Given the description of an element on the screen output the (x, y) to click on. 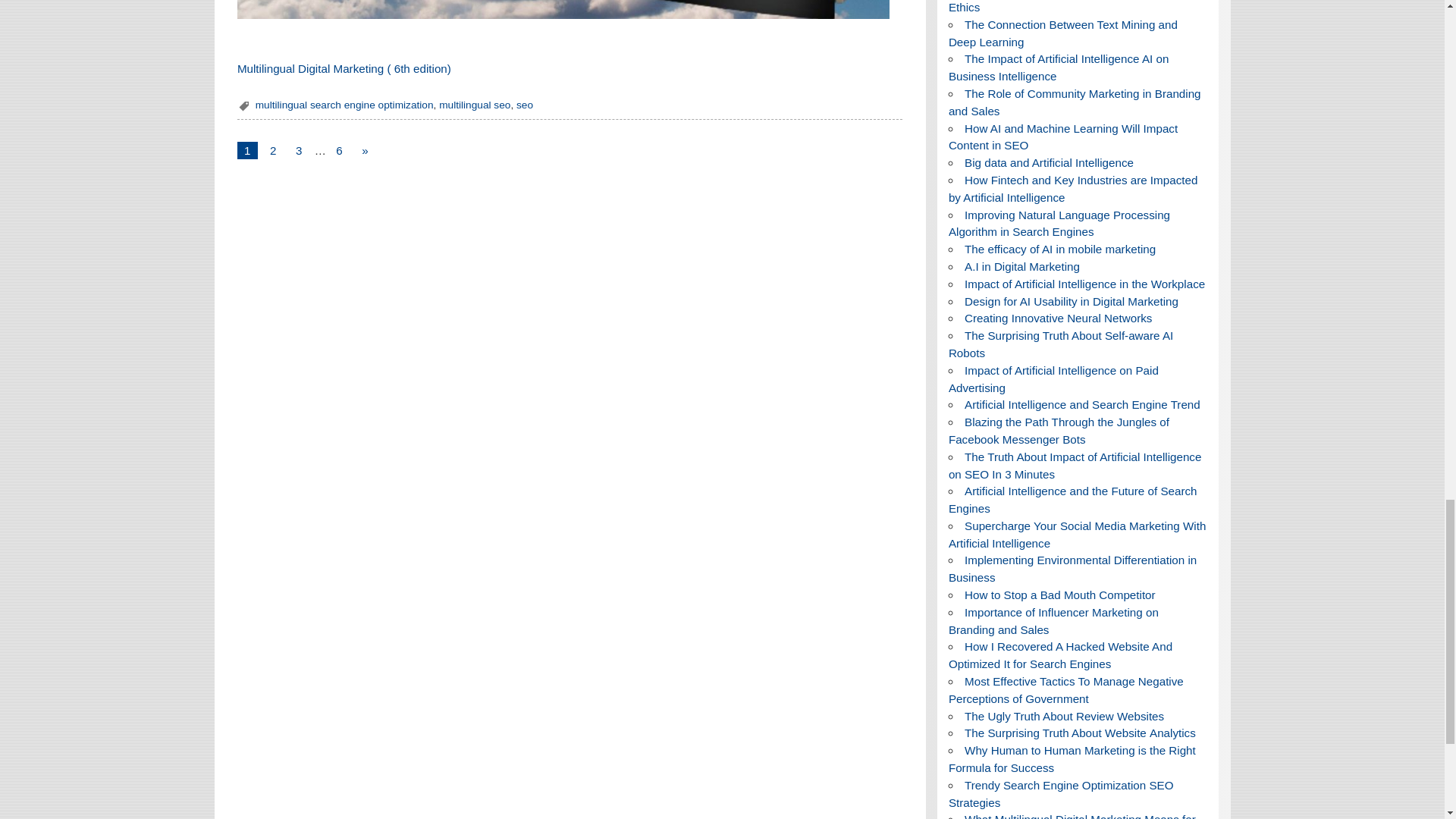
6 (339, 150)
2 (273, 150)
seo (524, 104)
3 (298, 150)
multilingual search engine optimization (344, 104)
multilingual seo (475, 104)
